Given the description of an element on the screen output the (x, y) to click on. 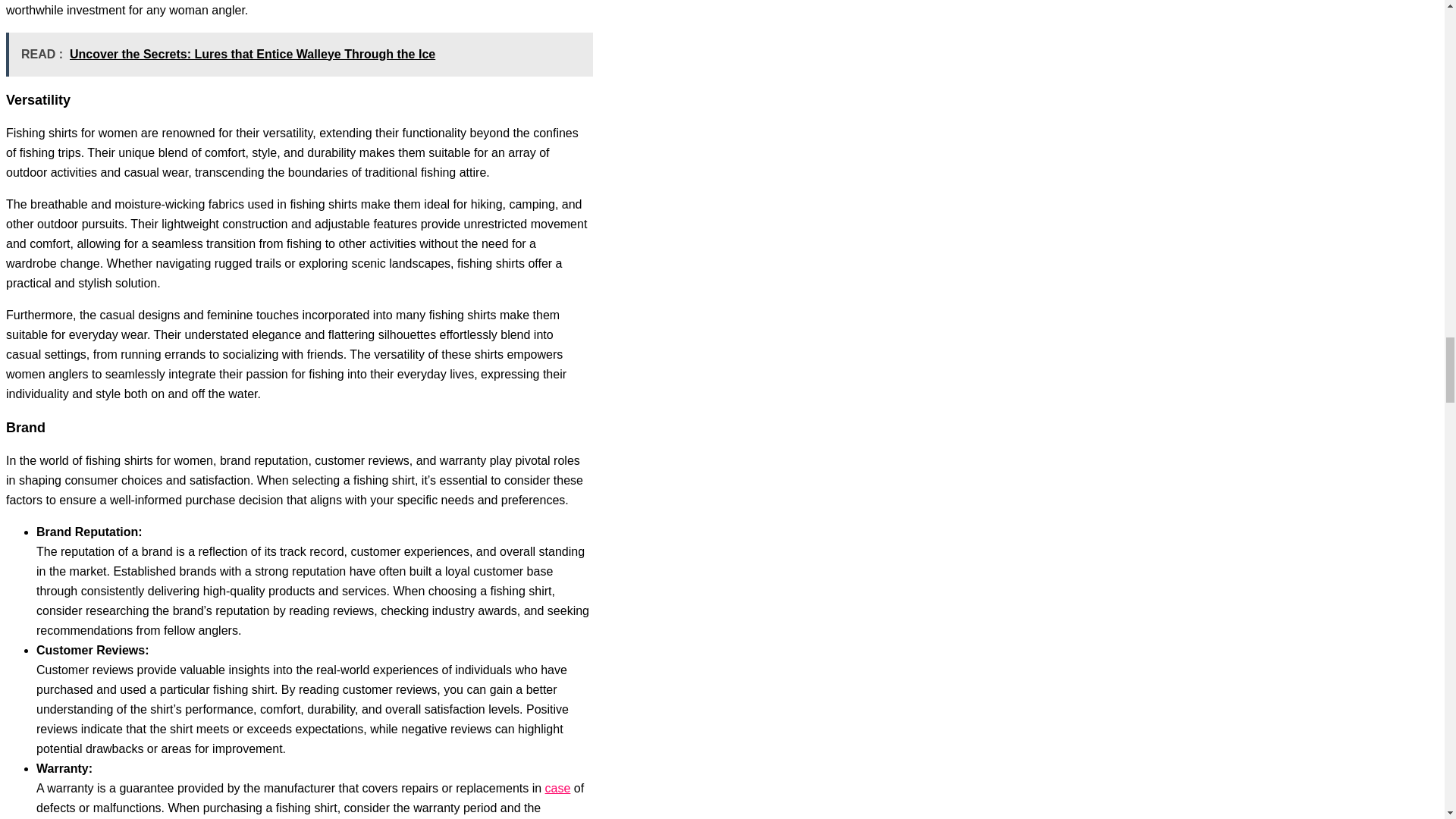
case (557, 788)
